Given the description of an element on the screen output the (x, y) to click on. 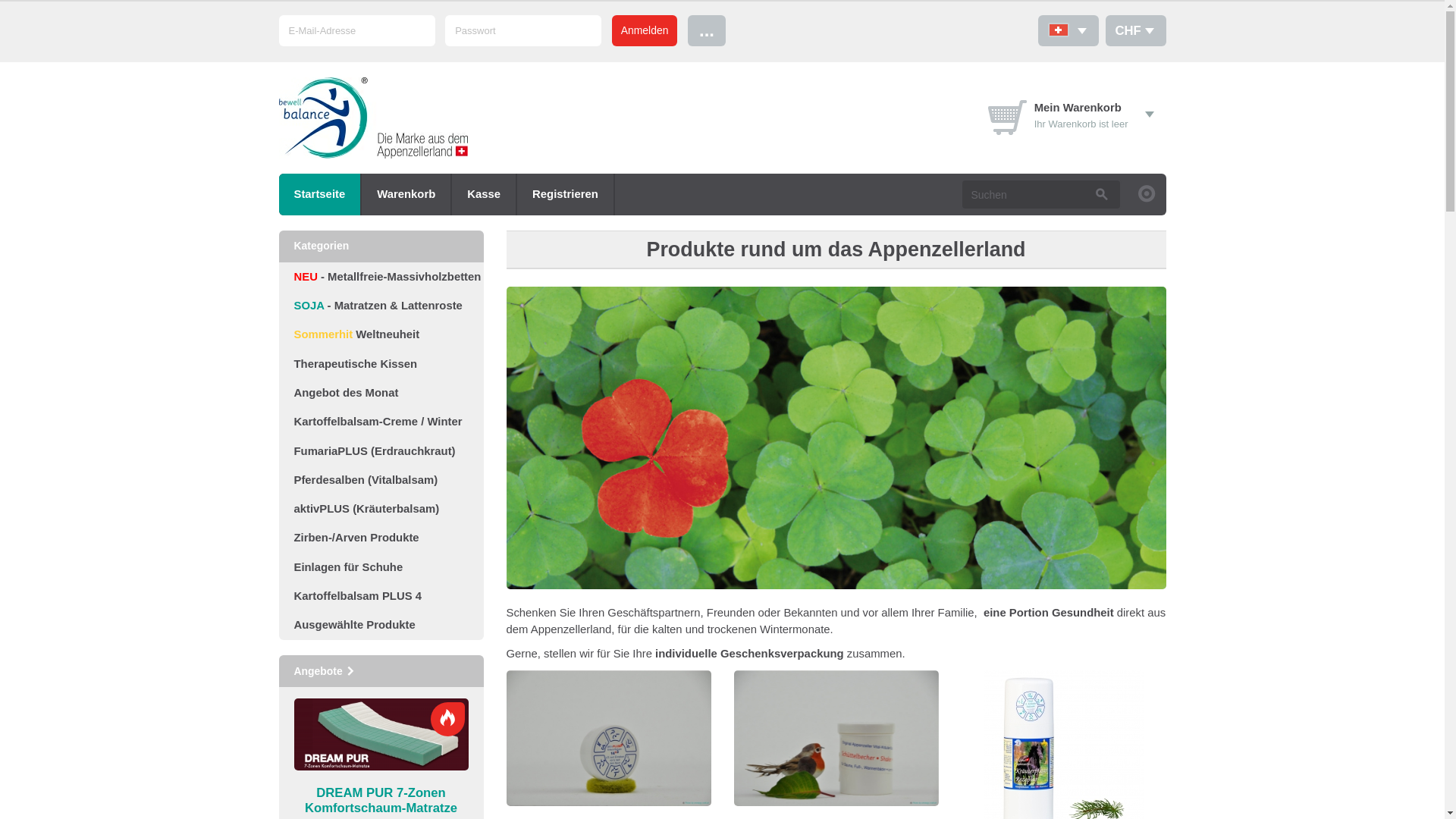
Kartoffelbalsam PLUS 4 Element type: text (381, 595)
Startseite Element type: text (319, 193)
Kasse Element type: text (483, 193)
Angebot des Monat Element type: text (381, 392)
Angebote Element type: text (325, 671)
Therapeutische Kissen Element type: text (381, 363)
SOJA - Matratzen & Lattenroste Element type: text (381, 305)
Kartoffelbalsam-Creme / Winter Element type: text (381, 421)
Warenkorb Element type: text (405, 193)
DREAM PUR 7-Zonen Komfortschaum-Matratze Element type: text (380, 800)
  Element type: text (1068, 30)
Registrieren Element type: text (565, 193)
CHF
  Element type: text (1135, 30)
Anmelden Element type: text (644, 30)
NEU - Metallfreie-Massivholzbetten Element type: text (381, 276)
Sommerhit Weltneuheit Element type: text (381, 334)
Pferdesalben (Vitalbalsam) Element type: text (381, 479)
Zirben-/Arven Produkte Element type: text (381, 537)
... Element type: text (706, 30)
FumariaPLUS (Erdrauchkraut) Element type: text (381, 450)
